Given the description of an element on the screen output the (x, y) to click on. 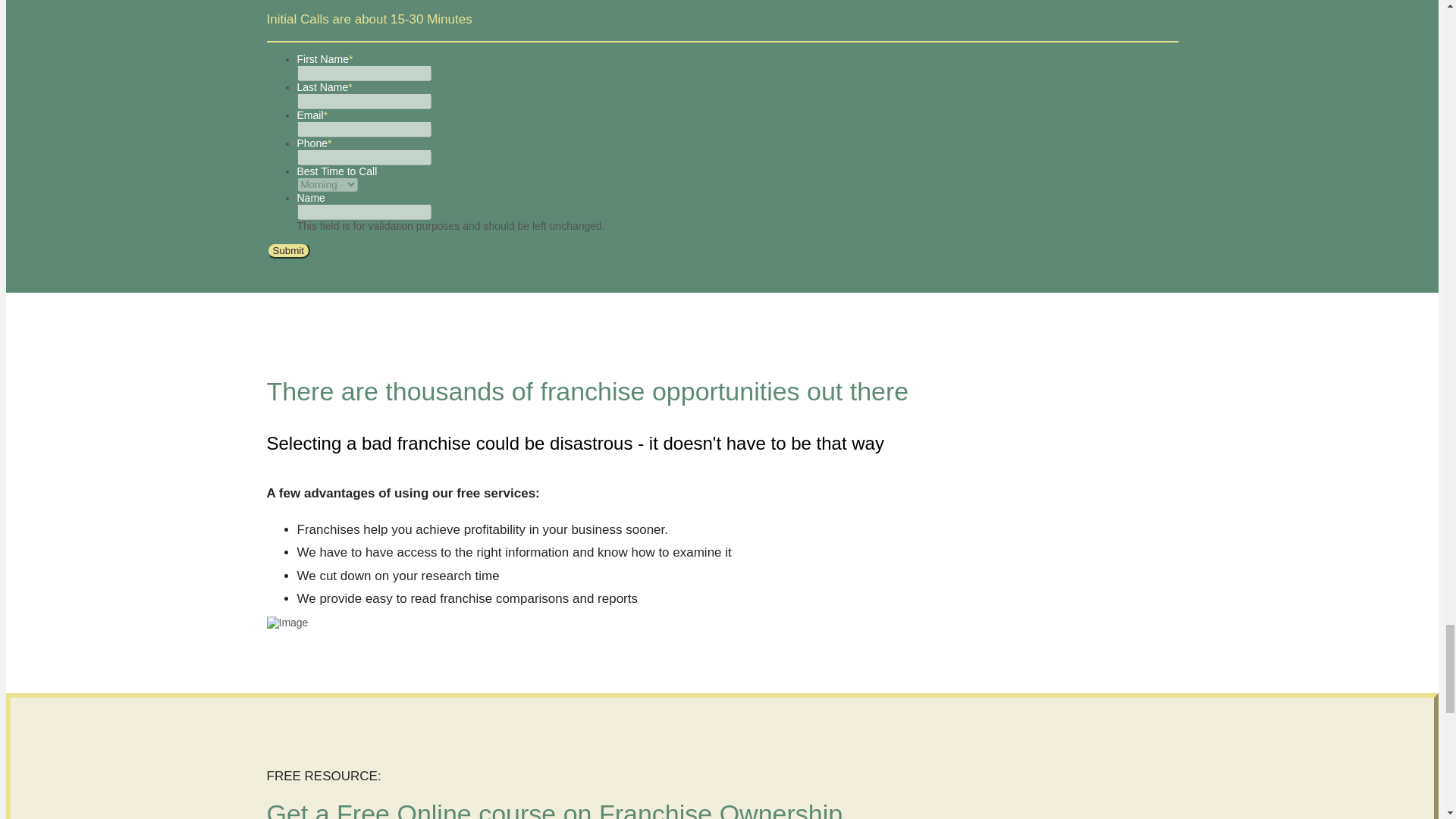
Submit (288, 250)
Submit (288, 250)
